Given the description of an element on the screen output the (x, y) to click on. 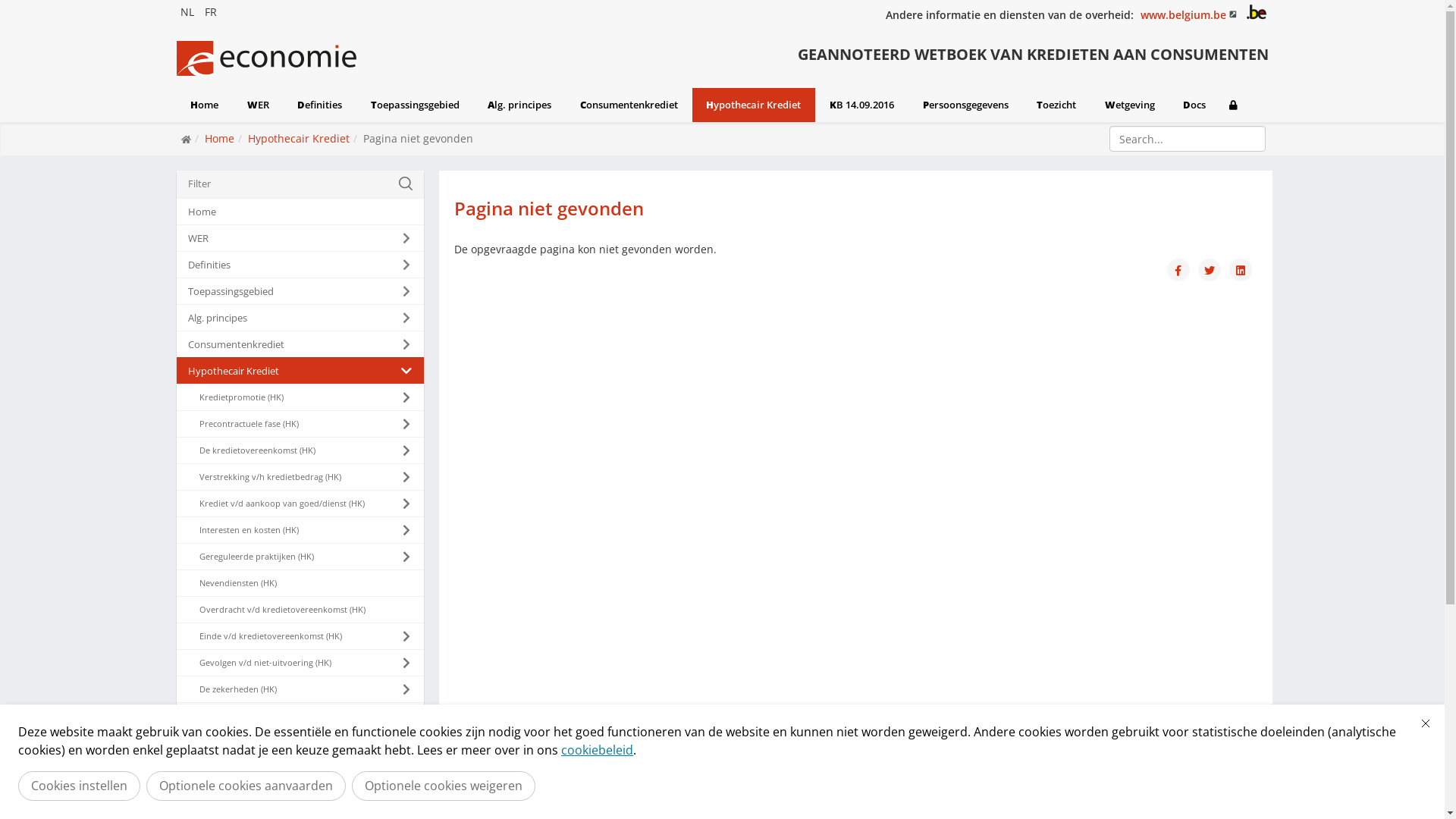
Cookies instellen Element type: text (79, 785)
Optionele cookies weigeren Element type: text (443, 785)
Nevendiensten (HK) Element type: text (299, 583)
Einde v/d kredietovereenkomst (HK) Element type: text (299, 636)
Optionele cookies aanvaarden Element type: text (245, 785)
Login Element type: text (1244, 104)
Verstrekking v/h kredietbedrag (HK) Element type: text (299, 476)
Consumentenkrediet Element type: text (299, 344)
De zekerheden (HK) Element type: text (299, 689)
Home Element type: text (203, 104)
Gevolgen v/d niet-uitvoering (HK) Element type: text (299, 662)
Overdracht v/d kredietovereenkomst (HK) Element type: text (299, 609)
Search Element type: text (1267, 138)
Home Element type: text (299, 211)
Persoonsgegevens Element type: text (965, 104)
Kredietbemiddelaars (HK) Element type: text (299, 715)
KB 14.09.2016 Element type: text (861, 104)
Consumentenkrediet Element type: text (628, 104)
WER Element type: text (299, 238)
Hypothecair Krediet Element type: text (753, 104)
Home Element type: text (219, 138)
Interesten en kosten (HK) Element type: text (299, 529)
Docs Element type: text (1194, 104)
Sluiten Element type: hover (1425, 723)
KB 14.09.2016 Element type: text (299, 768)
Hypothecair Krediet Element type: text (297, 138)
www.belgium.be Element type: text (1190, 14)
FR Element type: text (209, 12)
Definities Element type: text (299, 264)
Sancties (HK) Element type: text (299, 742)
Alg. principes Element type: text (299, 317)
De kredietovereenkomst (HK) Element type: text (299, 450)
WER Element type: text (257, 104)
Gereguleerde praktijken (HK) Element type: text (299, 556)
Precontractuele fase (HK) Element type: text (299, 423)
Kredietpromotie (HK) Element type: text (299, 397)
Toepassingsgebied Element type: text (299, 291)
NL Element type: text (186, 12)
Alg. principes Element type: text (519, 104)
Toezicht Element type: text (1056, 104)
Persoonsgegevens Element type: text (299, 795)
Toepassingsgebied Element type: text (414, 104)
Wetgeving Element type: text (1129, 104)
Overslaan en naar de inhoud gaan Element type: text (7, 4)
Krediet v/d aankoop van goed/dienst (HK) Element type: text (299, 503)
Definities Element type: text (320, 104)
Hypothecair Krediet Element type: text (299, 370)
cookiebeleid Element type: text (597, 749)
